Given the description of an element on the screen output the (x, y) to click on. 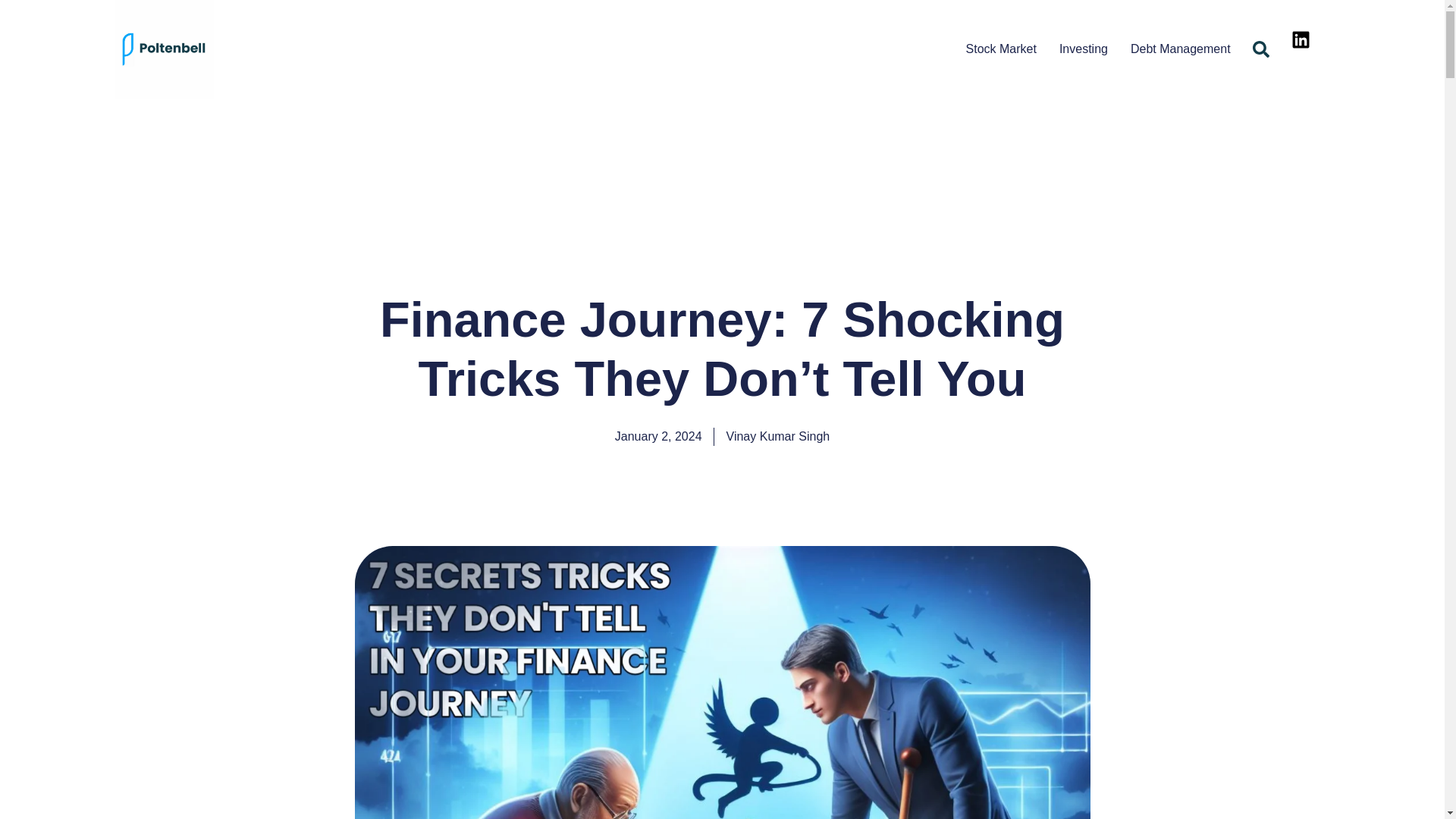
Debt Management (1180, 48)
January 2, 2024 (657, 436)
Stock Market (1001, 48)
Linkedin (1310, 48)
Investing (1083, 48)
Vinay Kumar Singh (777, 436)
